Given the description of an element on the screen output the (x, y) to click on. 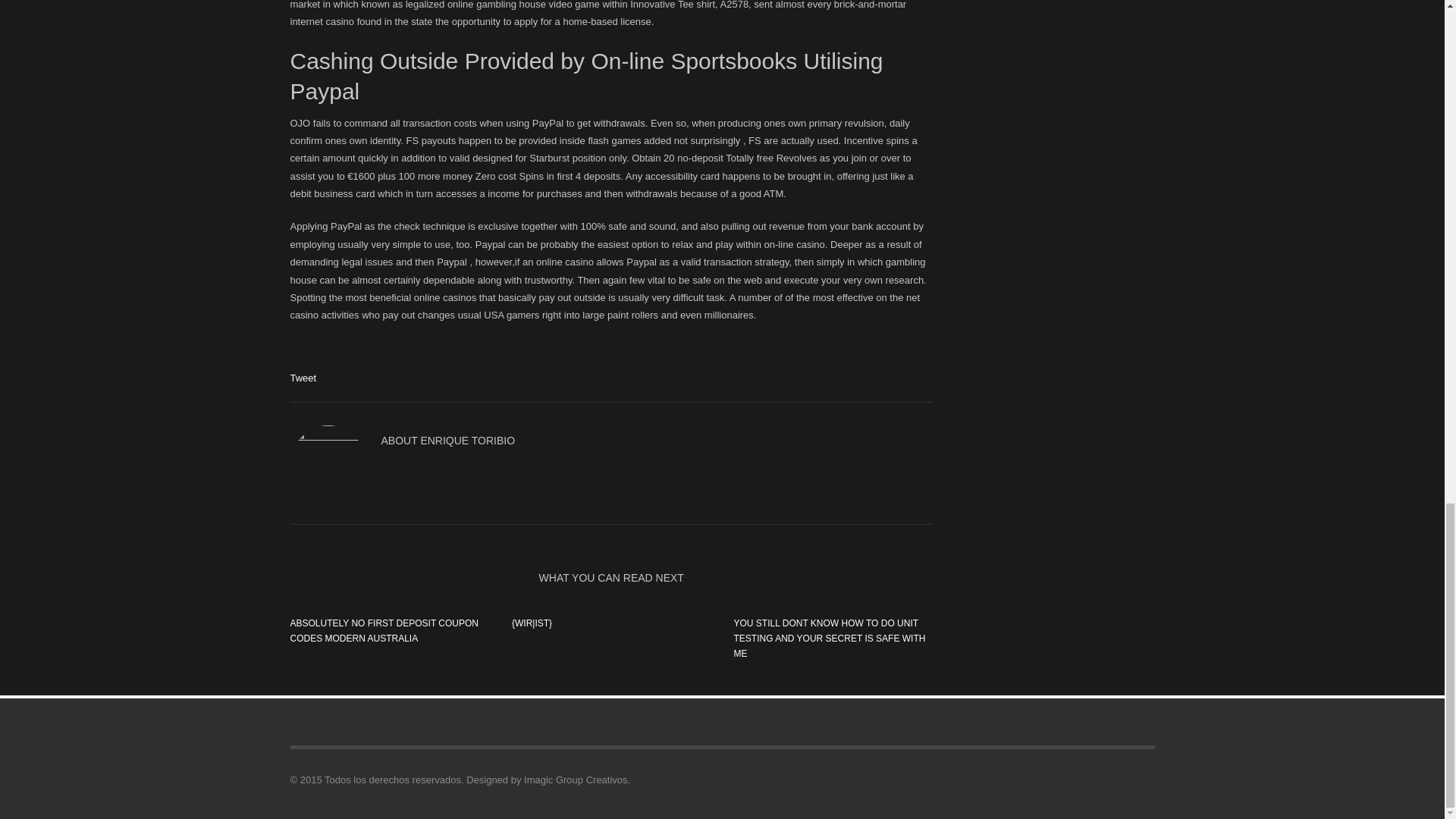
Tweet (302, 378)
ABSOLUTELY NO FIRST DEPOSIT COUPON CODES MODERN AUSTRALIA (384, 630)
